Given the description of an element on the screen output the (x, y) to click on. 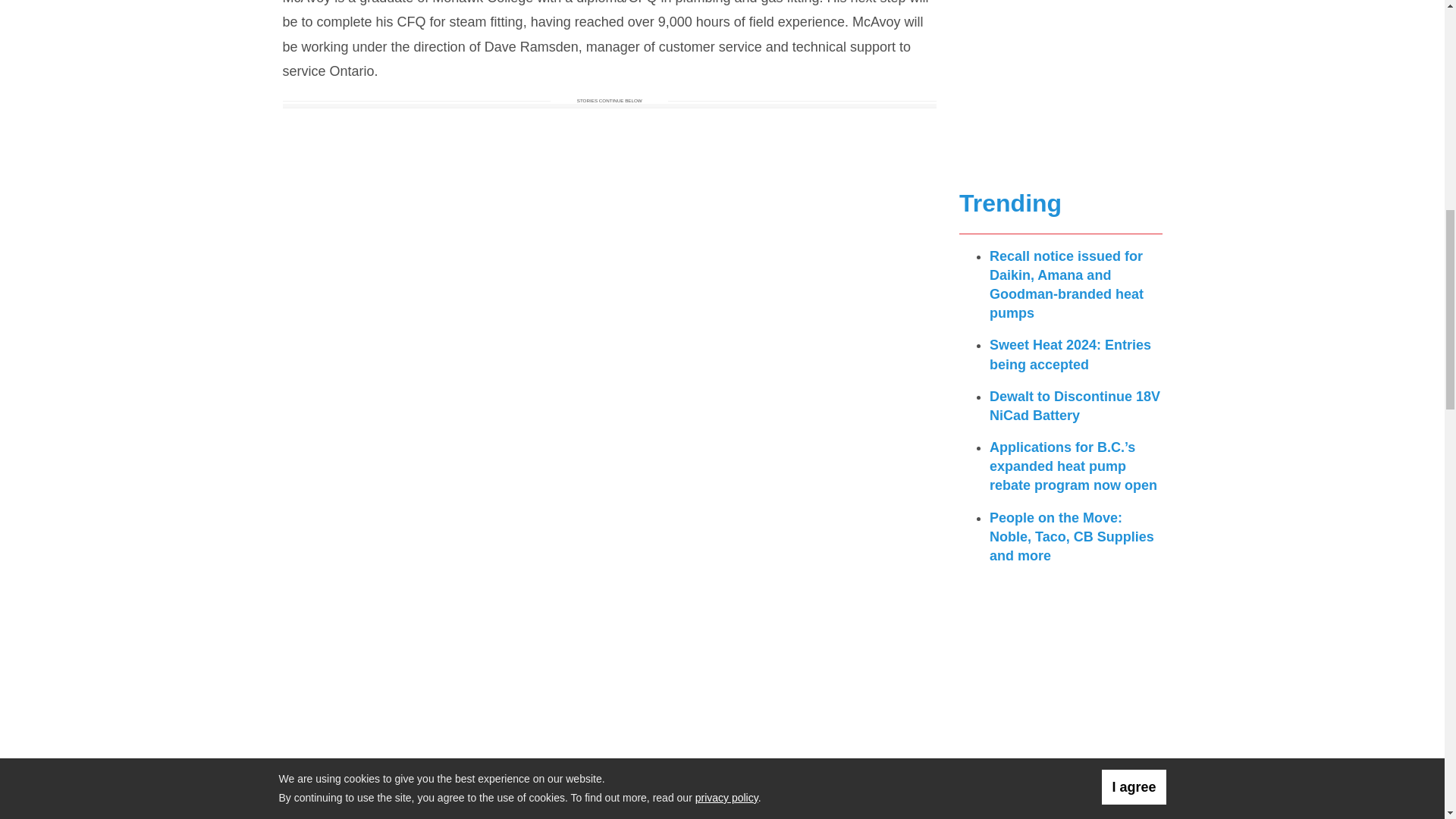
3rd party ad content (1060, 672)
3rd party ad content (1060, 87)
3rd party ad content (1060, 796)
